Given the description of an element on the screen output the (x, y) to click on. 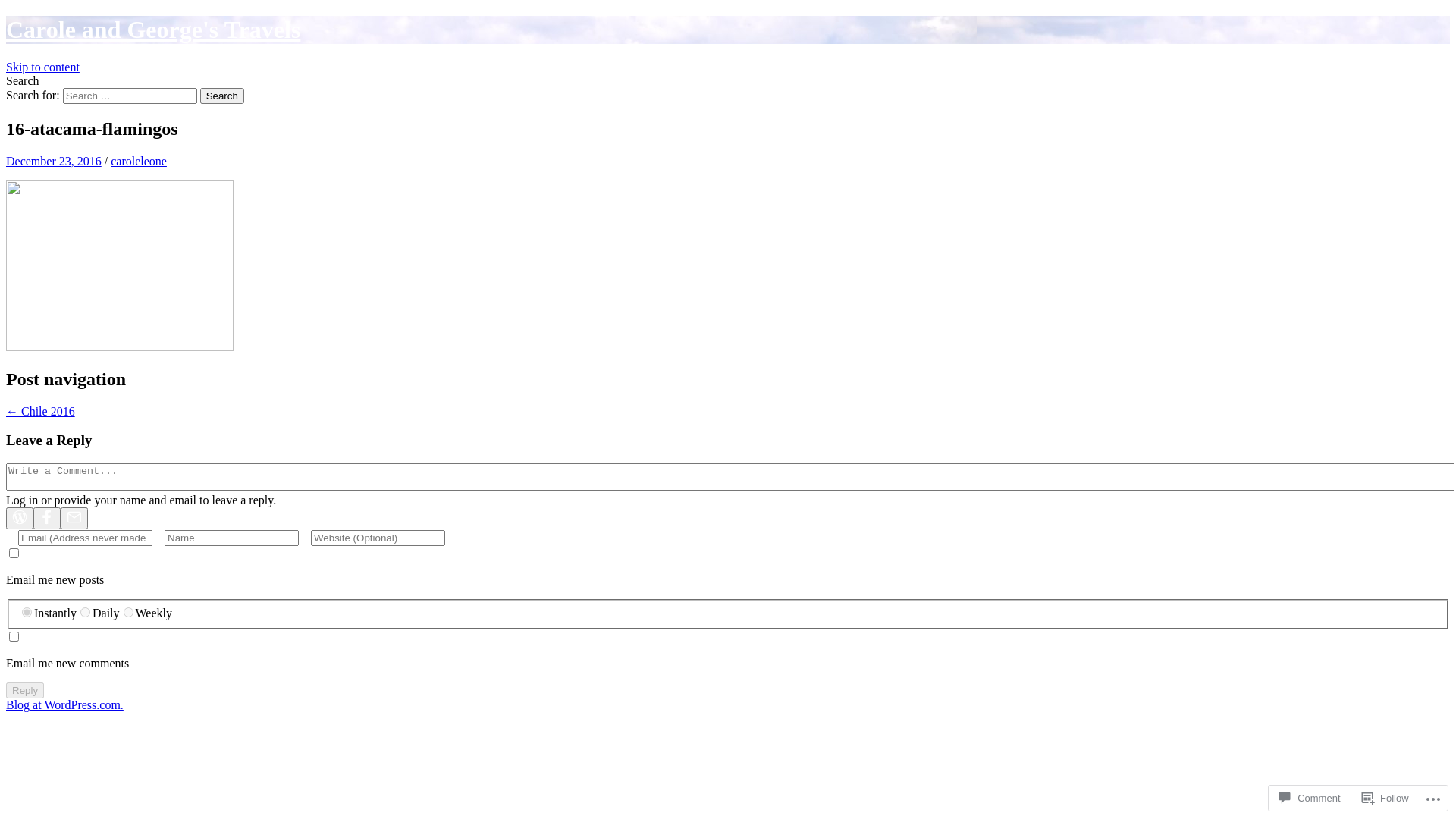
Reply Element type: text (24, 690)
Skip to content Element type: text (42, 66)
Blog at WordPress.com. Element type: text (64, 704)
caroleleone Element type: text (138, 160)
Search Element type: text (222, 95)
Follow Element type: text (1385, 797)
Carole and George's Travels Element type: text (153, 29)
Comment Element type: text (1309, 797)
December 23, 2016 Element type: text (53, 160)
